Given the description of an element on the screen output the (x, y) to click on. 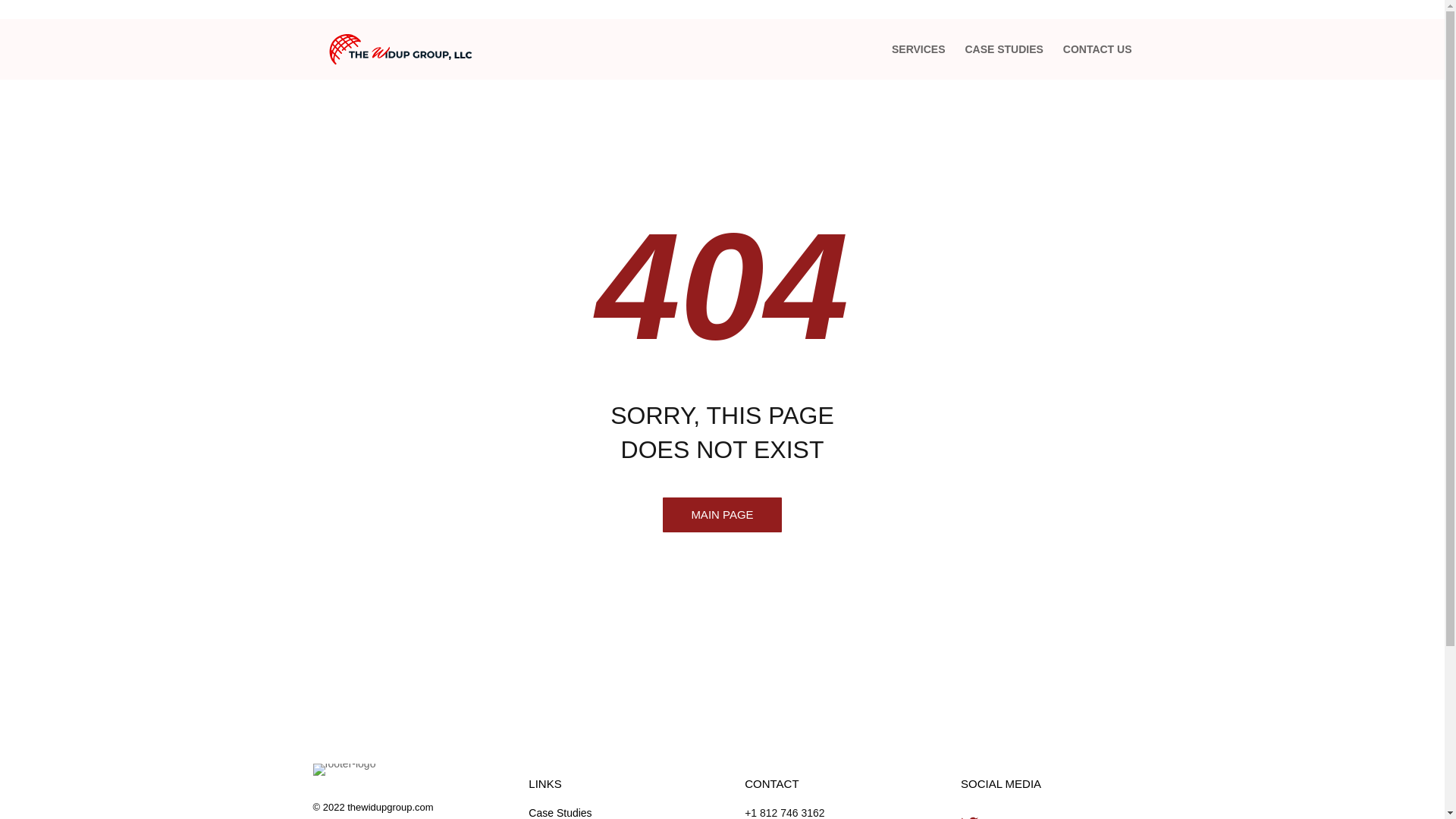
CONTACT US (1097, 61)
MAIN PAGE (722, 514)
CASE STUDIES (1002, 61)
SERVICES (917, 61)
